Given the description of an element on the screen output the (x, y) to click on. 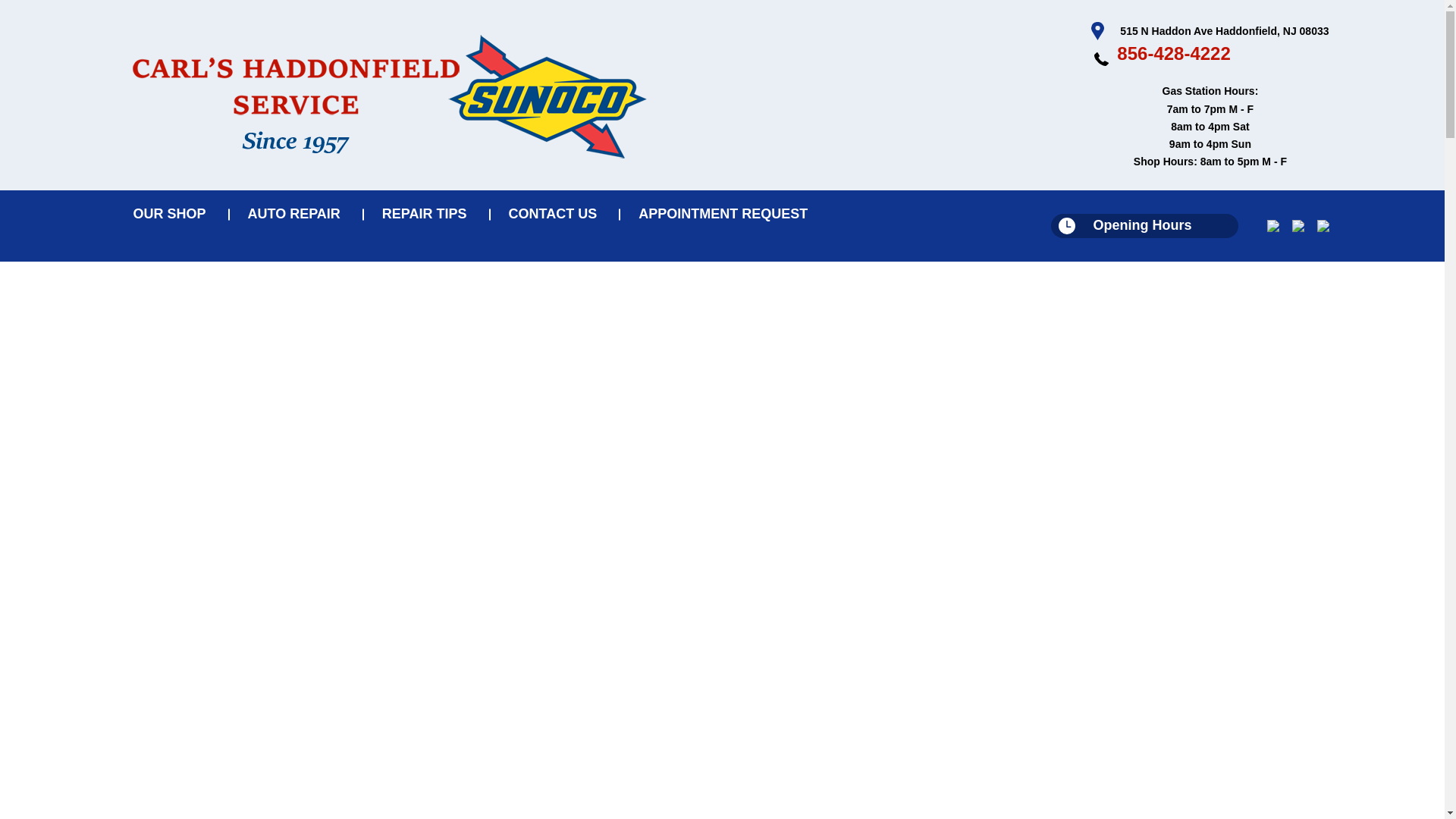
856-428-4222 (1173, 53)
APPOINTMENT REQUEST (723, 214)
CONTACT US (556, 214)
OUR SHOP (172, 214)
AUTO REPAIR (297, 214)
REPAIR TIPS (428, 214)
Opening Hours (1145, 225)
